Given the description of an element on the screen output the (x, y) to click on. 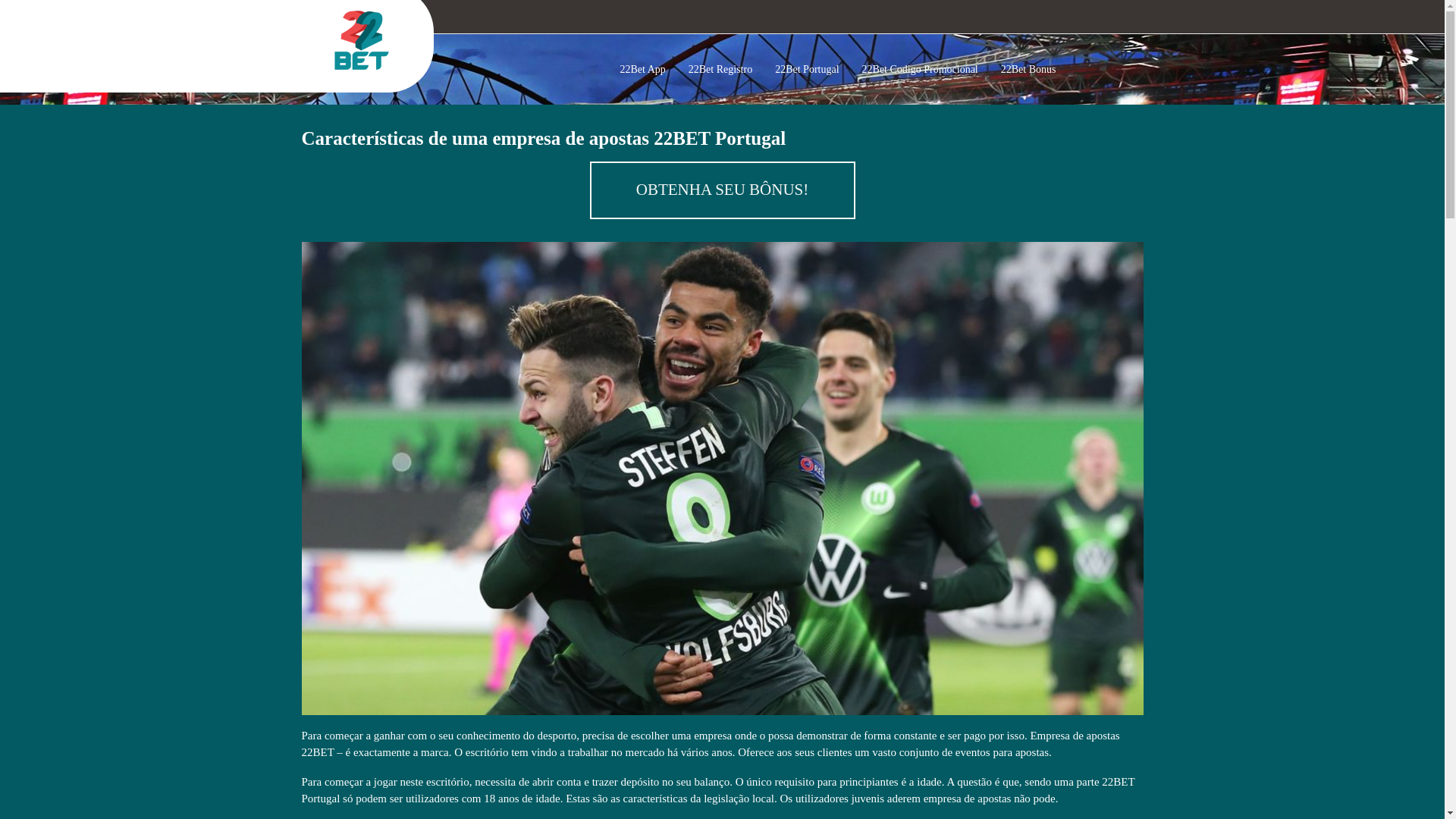
22Bet Portugal Element type: text (810, 68)
22Bet Codigo Promocional Element type: text (923, 68)
22Bet App Element type: text (645, 68)
22Bet Bonus Element type: text (1032, 68)
22Bet Registro Element type: text (723, 68)
